Given the description of an element on the screen output the (x, y) to click on. 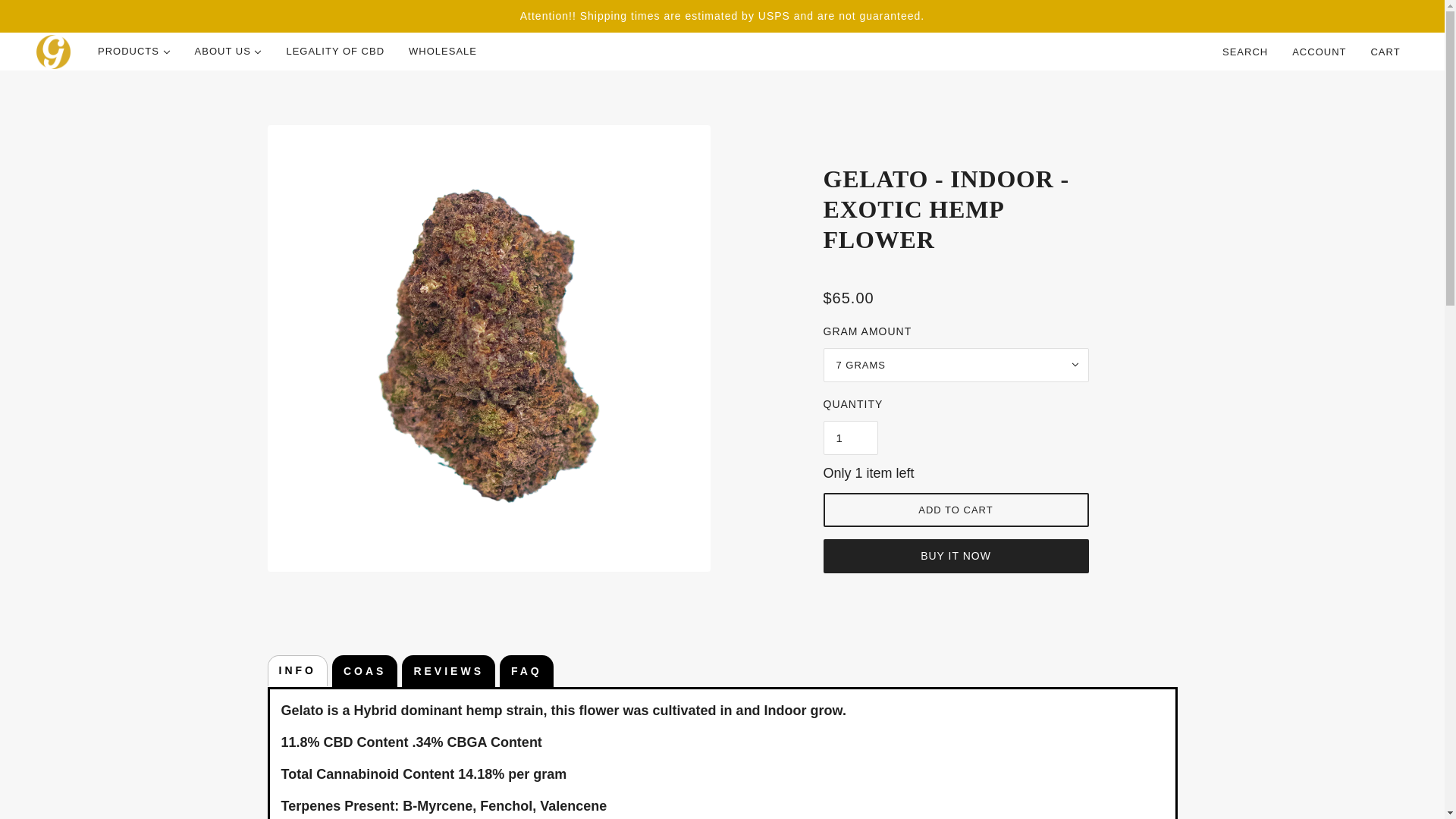
WHOLESALE (442, 51)
Gold Standard  (52, 51)
1 (850, 437)
ABOUT US (229, 51)
CART  (1386, 51)
PRODUCTS (134, 51)
ADD TO CART (956, 510)
SEARCH (1244, 51)
LEGALITY OF CBD (334, 51)
Smile.io Rewards Program Launcher (130, 735)
BUY IT NOW (956, 555)
ACCOUNT (1318, 51)
GELATO - INDOOR - EXOTIC HEMP FLOWER (956, 214)
